Given the description of an element on the screen output the (x, y) to click on. 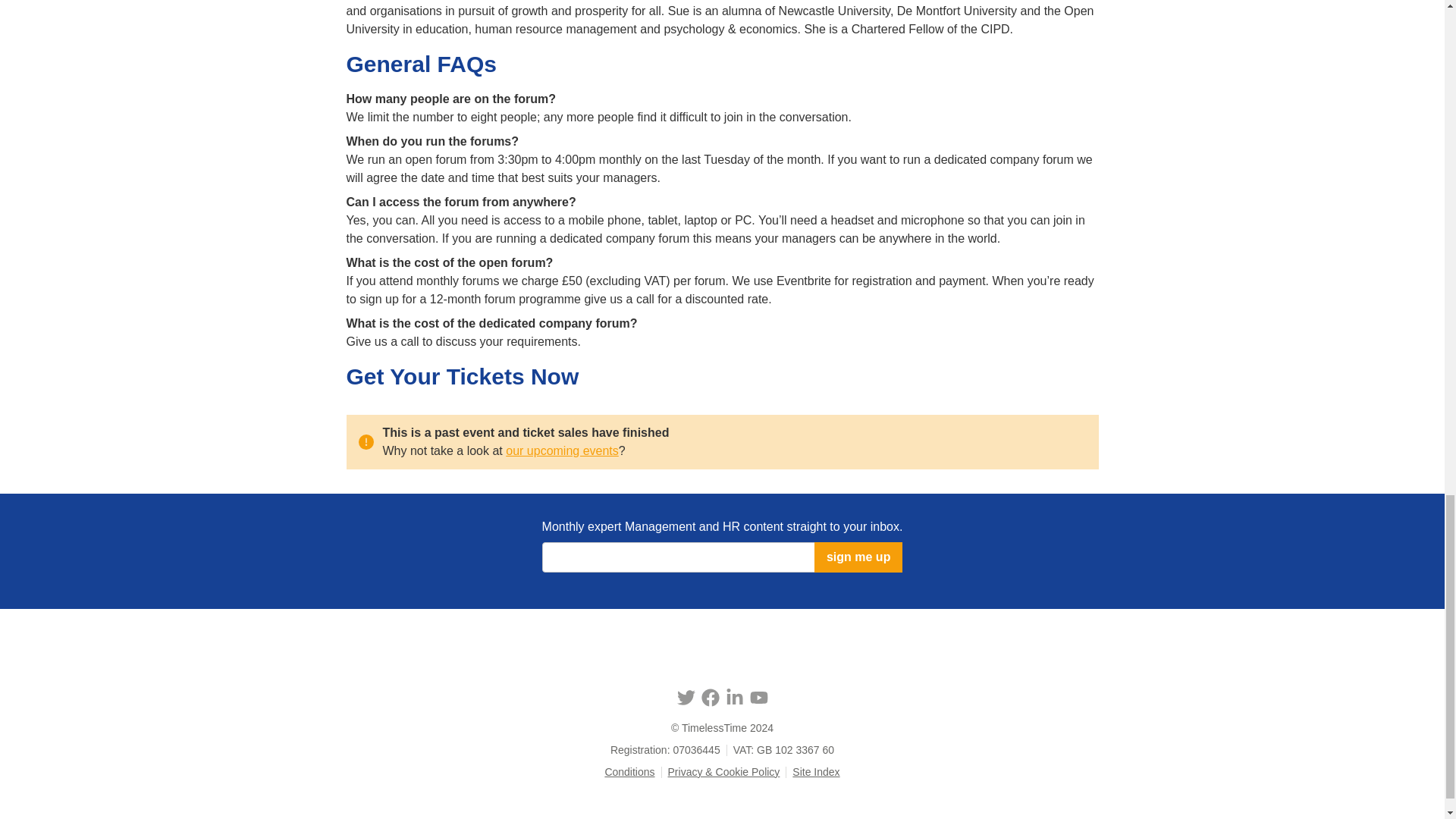
Site Index (816, 772)
Conditions (628, 772)
our upcoming events (561, 450)
sign me up (857, 557)
